Given the description of an element on the screen output the (x, y) to click on. 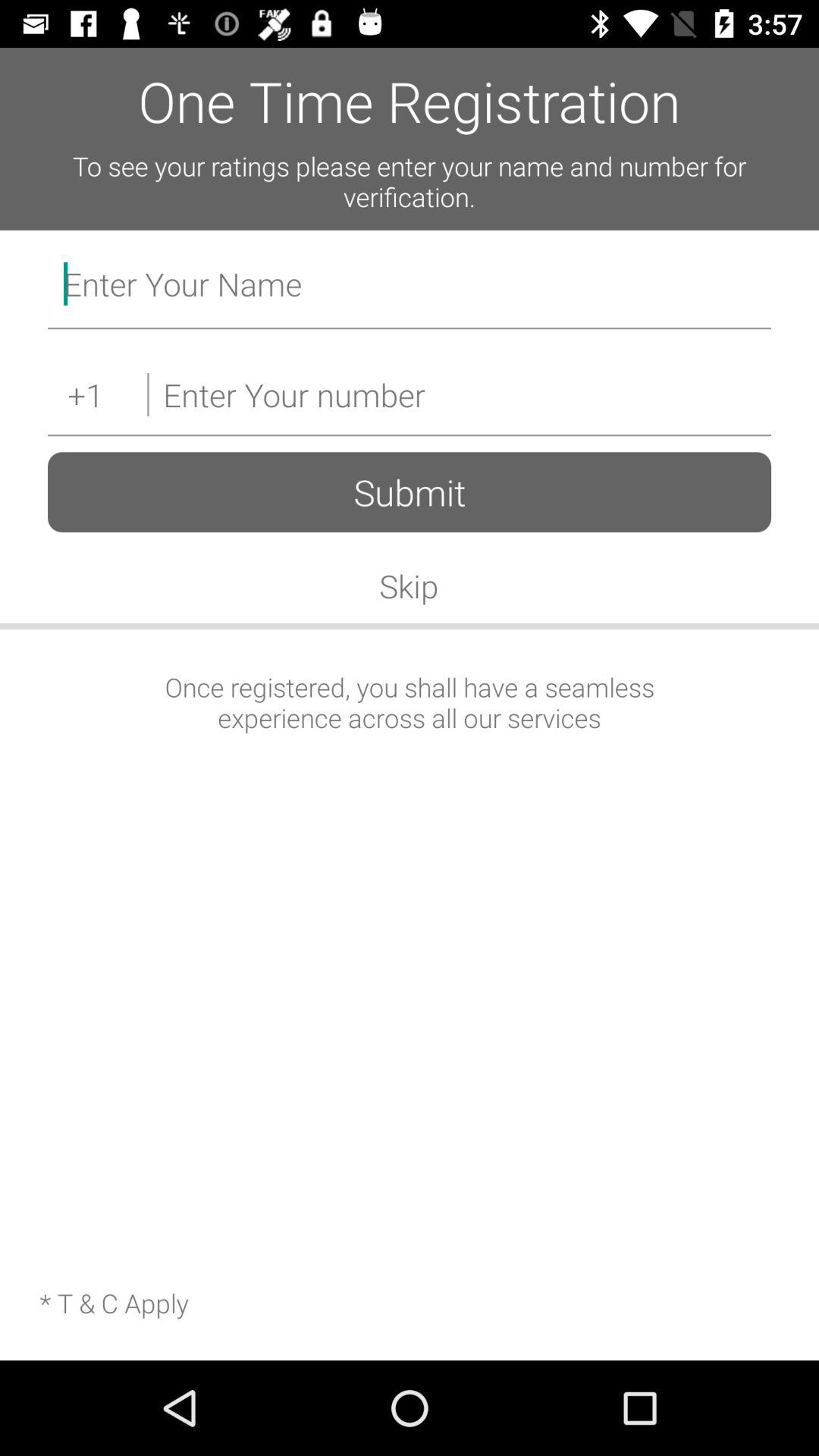
turn on icon below the +1 (409, 492)
